Given the description of an element on the screen output the (x, y) to click on. 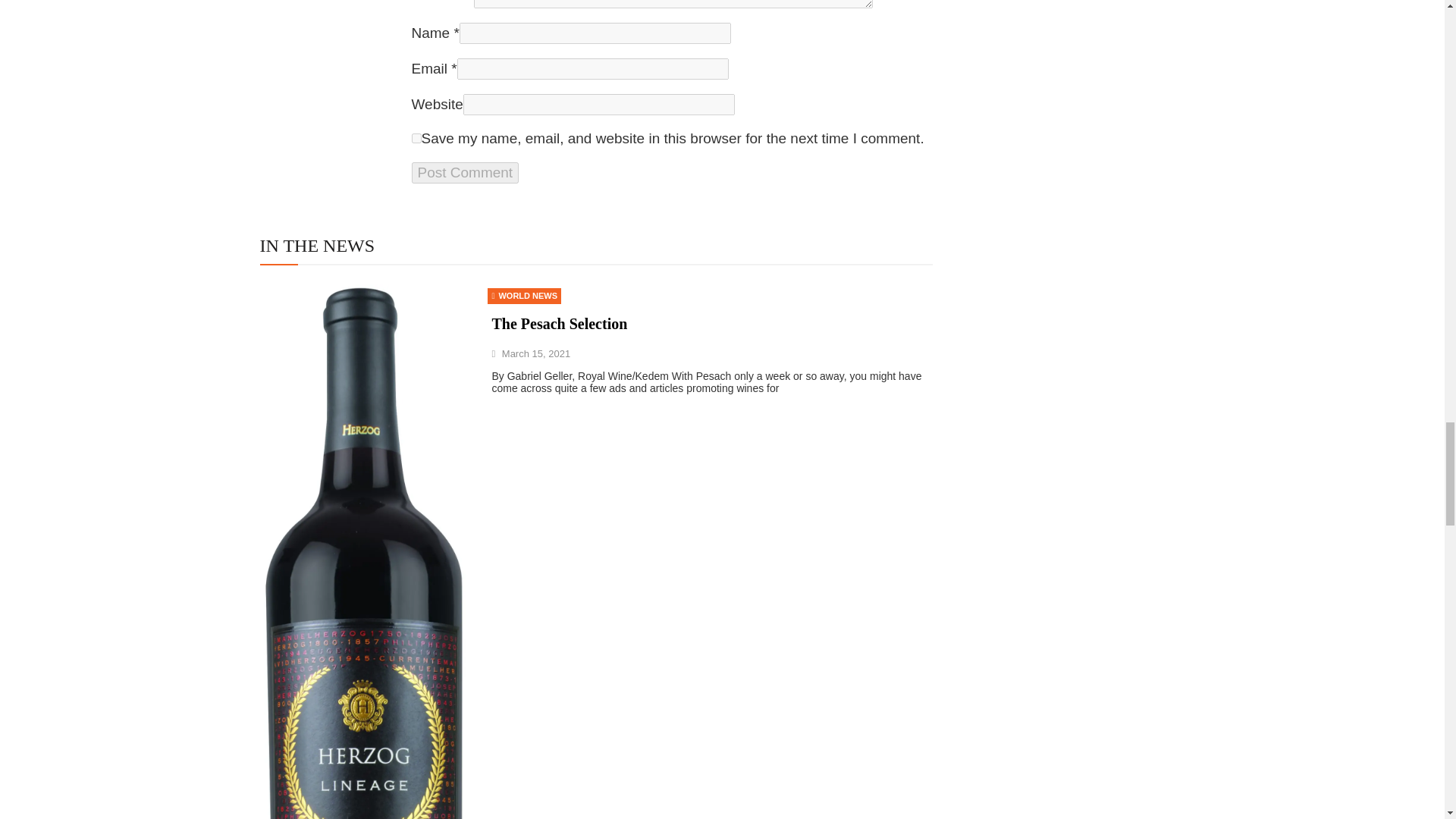
yes (415, 138)
Post Comment (464, 172)
